Given the description of an element on the screen output the (x, y) to click on. 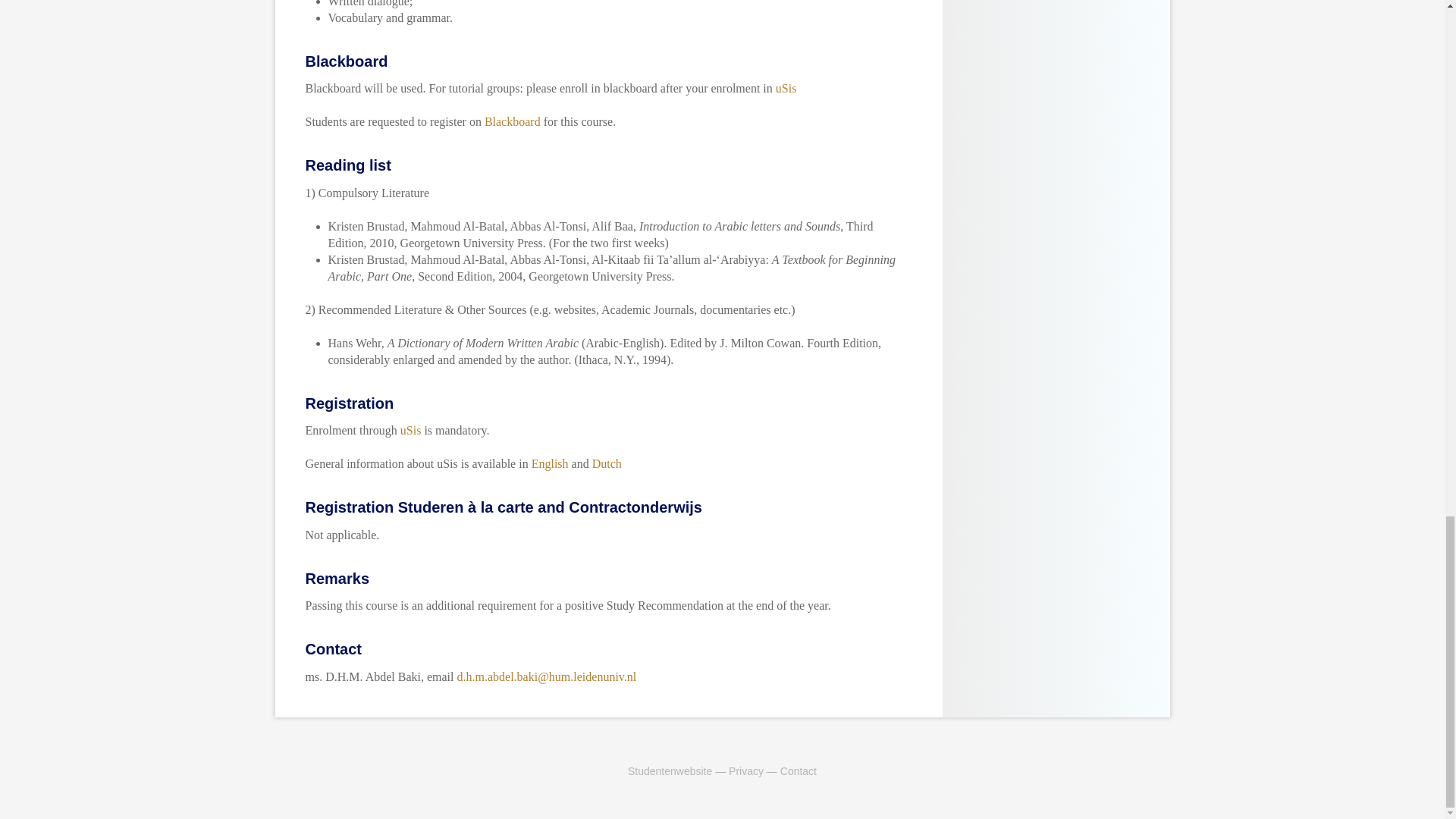
Privacy (745, 770)
uSis (411, 430)
uSis (786, 88)
Blackboard (512, 121)
Contact (798, 770)
English (550, 463)
Dutch (606, 463)
Studentenwebsite (669, 770)
